Given the description of an element on the screen output the (x, y) to click on. 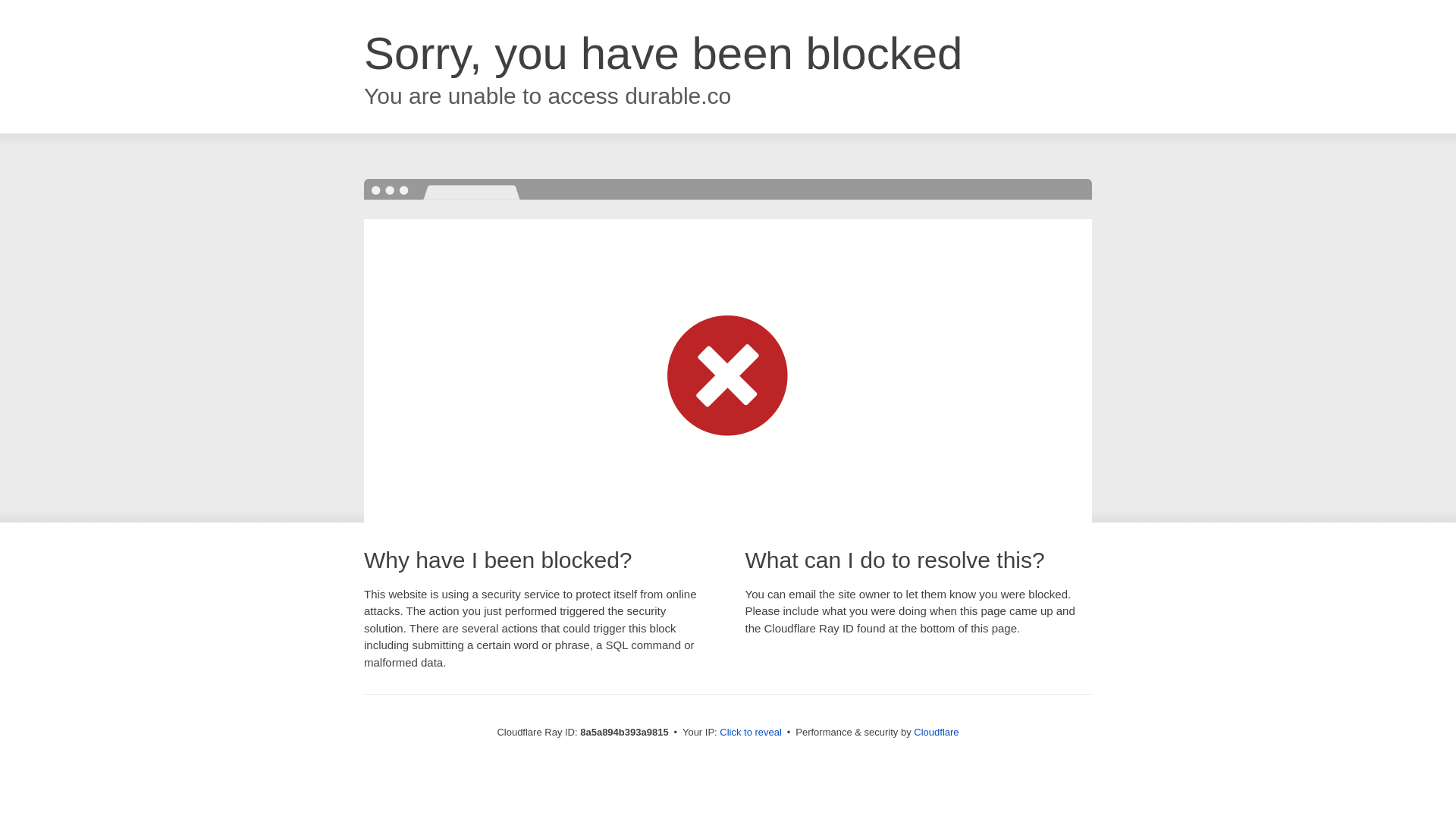
Cloudflare (936, 731)
Click to reveal (750, 732)
